Given the description of an element on the screen output the (x, y) to click on. 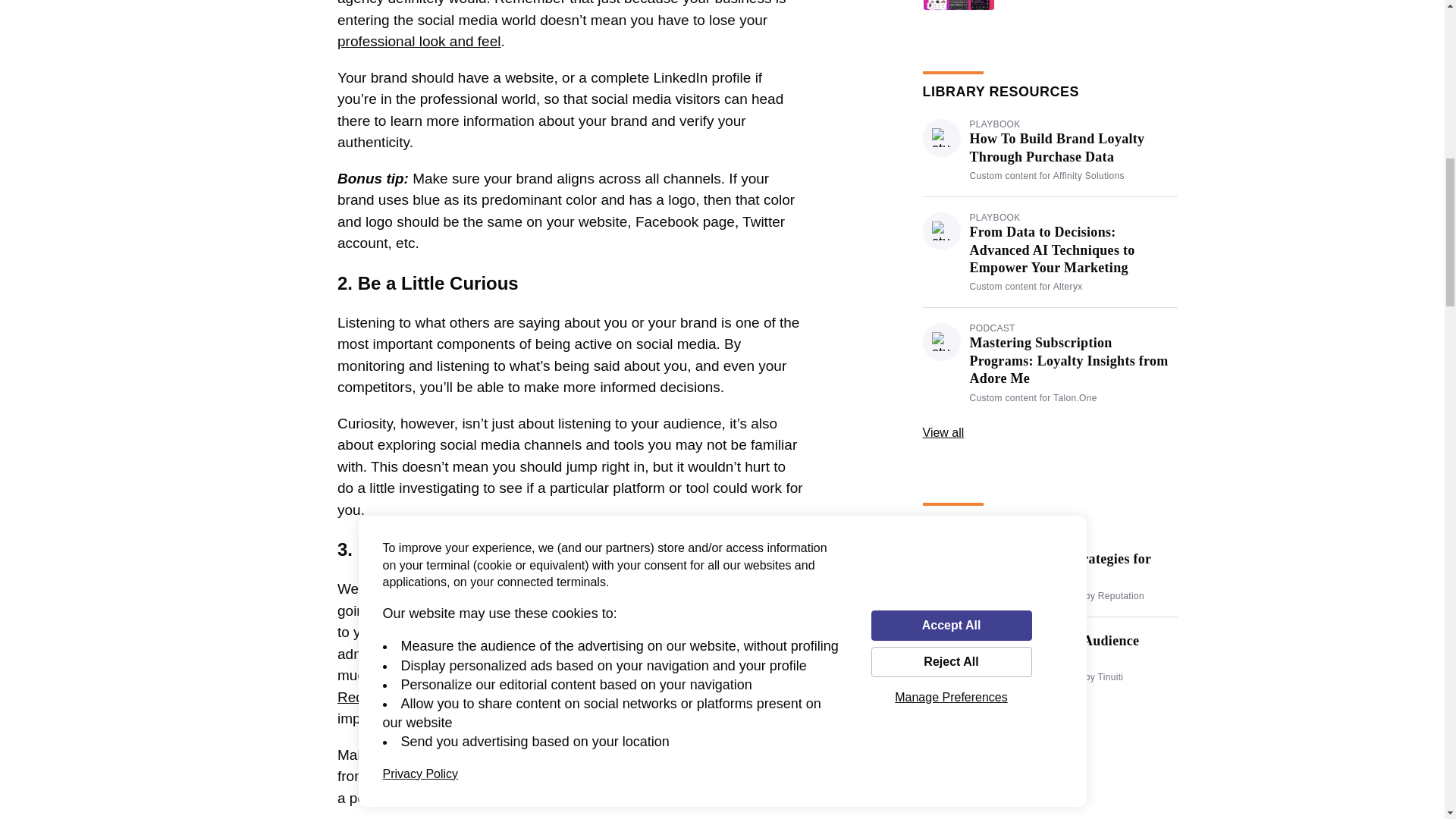
professional look and feel (418, 41)
